Given the description of an element on the screen output the (x, y) to click on. 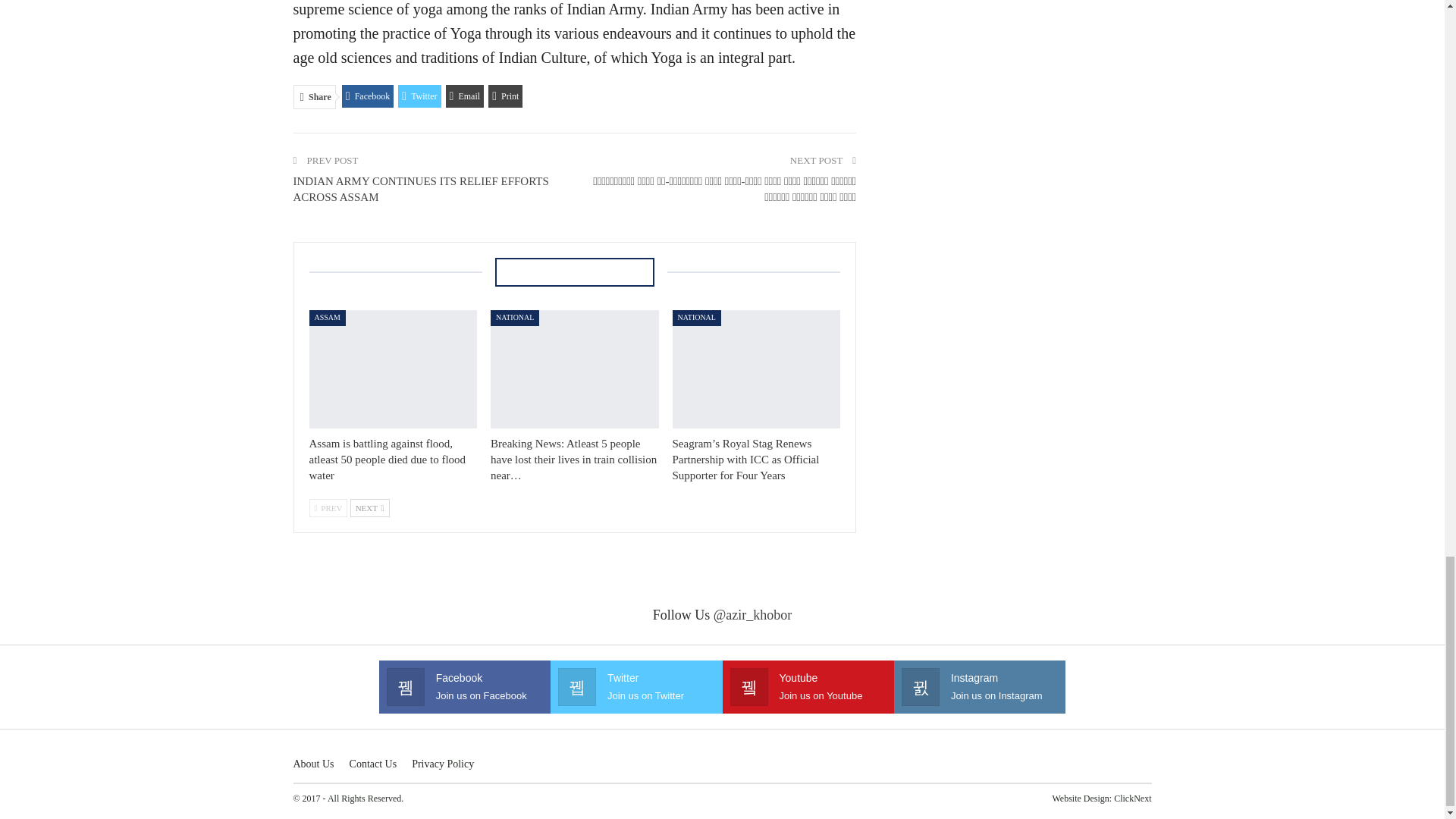
Next (370, 507)
INDIAN ARMY CONTINUES ITS RELIEF EFFORTS ACROSS ASSAM (420, 189)
Twitter (419, 96)
Print (504, 96)
Previous (327, 507)
ASSAM (327, 317)
Email (464, 96)
Facebook (368, 96)
